Given the description of an element on the screen output the (x, y) to click on. 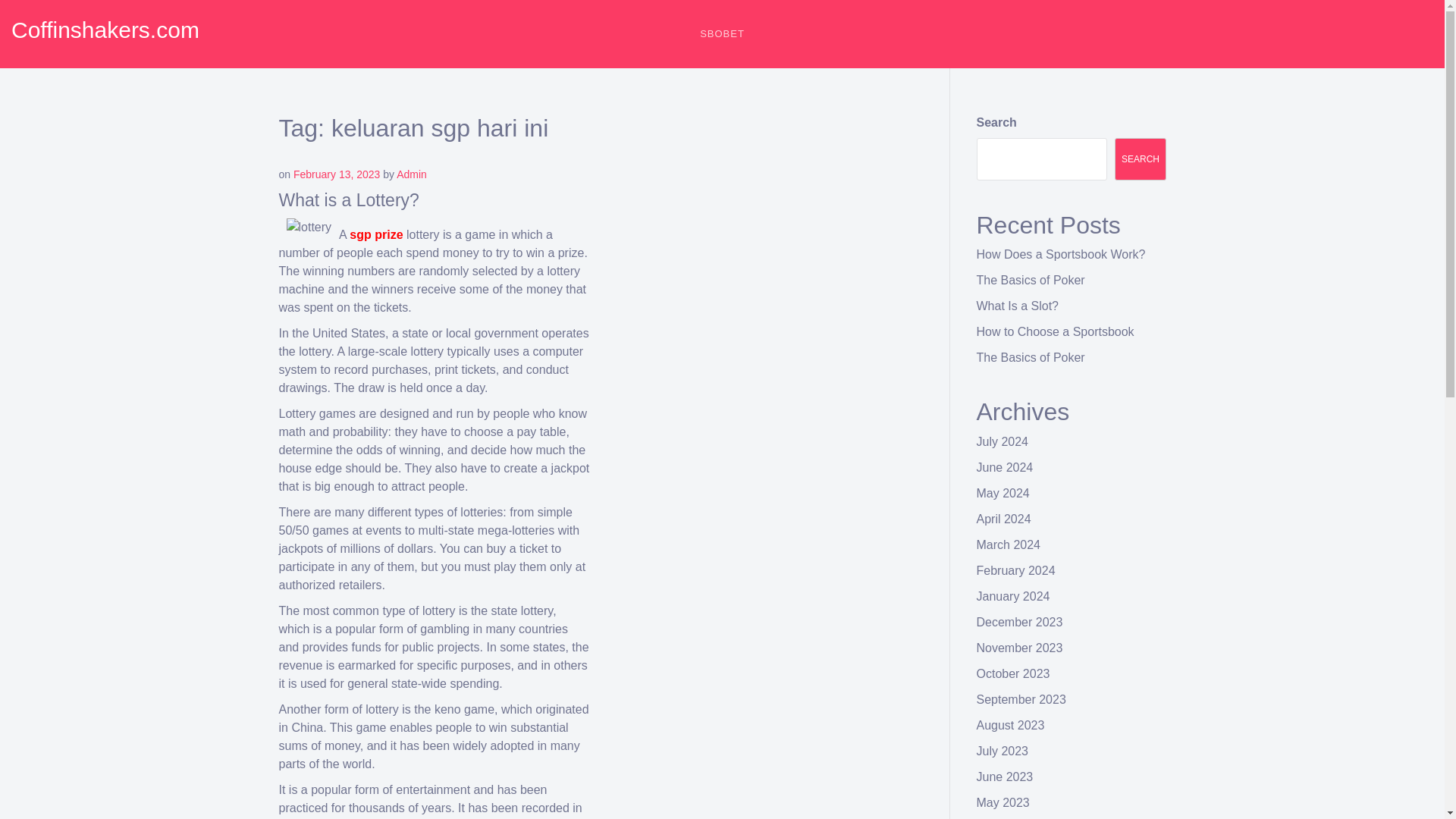
The Basics of Poker (1030, 357)
August 2023 (1010, 725)
What is a Lottery? (349, 199)
How to Choose a Sportsbook (1055, 331)
July 2023 (1002, 750)
February 2024 (1015, 570)
sgp prize (376, 234)
October 2023 (1012, 673)
The Basics of Poker (1030, 279)
June 2024 (1004, 467)
March 2024 (1008, 544)
Coffinshakers.com (105, 29)
How Does a Sportsbook Work? (1060, 254)
SEARCH (1140, 159)
June 2023 (1004, 776)
